Given the description of an element on the screen output the (x, y) to click on. 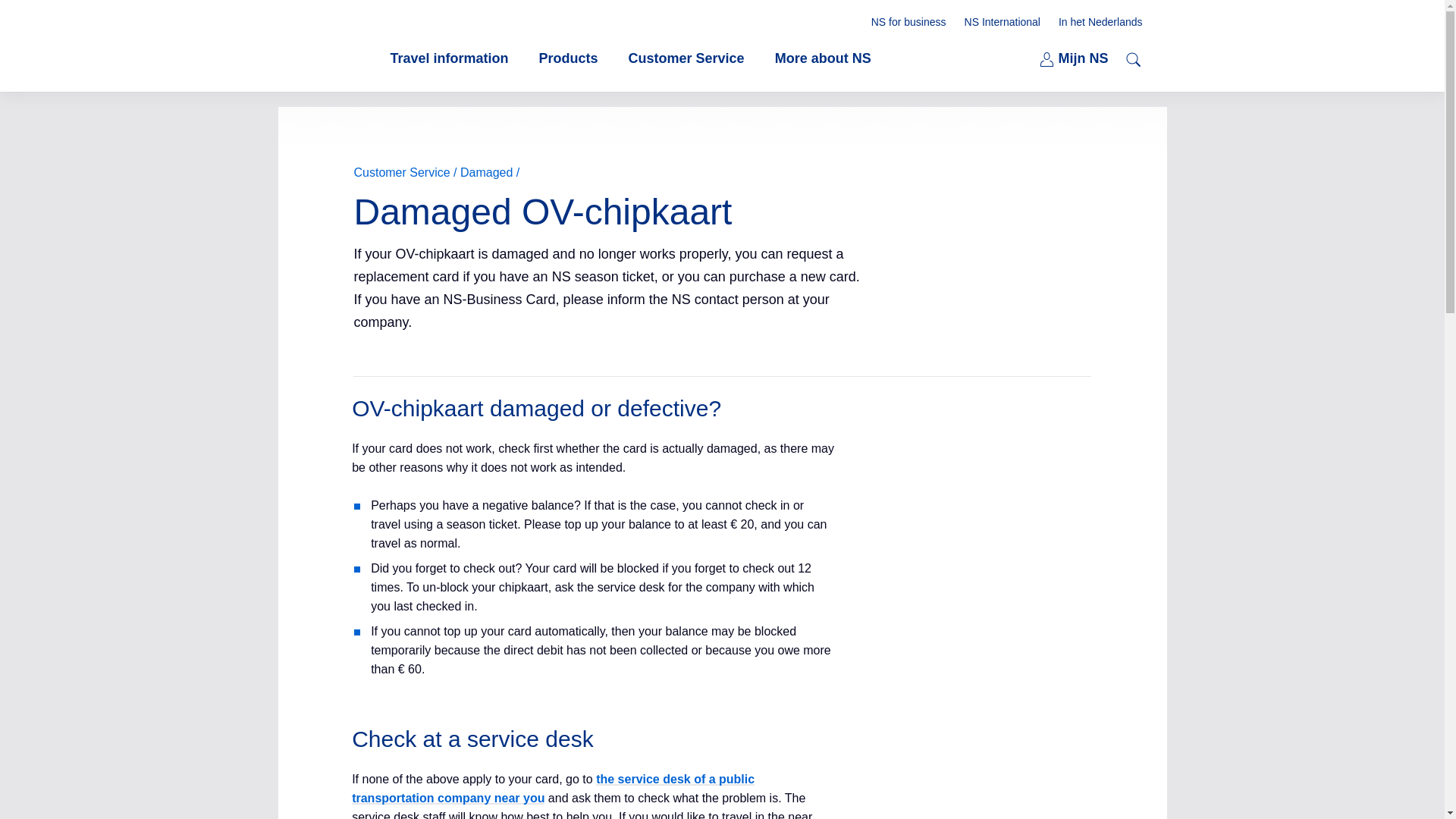
Go to the homepage of ns.nl (568, 58)
